Given the description of an element on the screen output the (x, y) to click on. 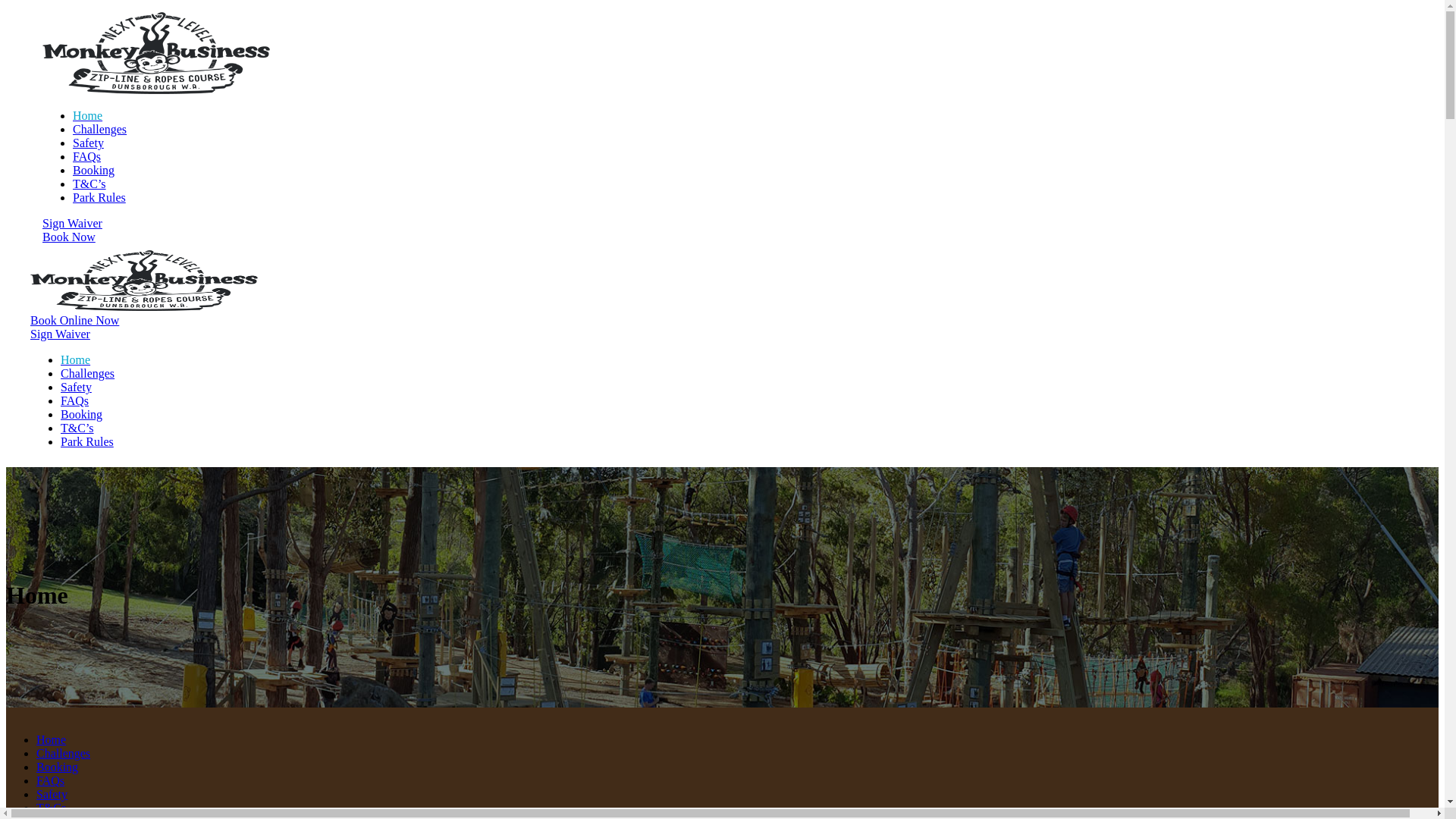
FAQs Element type: text (86, 156)
Challenges Element type: text (99, 128)
Book Online Now Element type: text (74, 319)
Safety Element type: text (75, 386)
Book Now Element type: text (68, 236)
Sign Waiver Element type: text (72, 222)
Home Element type: text (87, 115)
Challenges Element type: text (87, 373)
Home Element type: text (75, 359)
FAQs Element type: text (74, 400)
Safety Element type: text (51, 793)
Sign Waiver Element type: text (60, 333)
Booking Element type: text (93, 169)
Booking Element type: text (81, 413)
Safety Element type: text (87, 142)
Home Element type: text (50, 739)
T&Cs Element type: text (50, 807)
Park Rules Element type: text (86, 441)
FAQs Element type: text (50, 780)
Park Rules Element type: text (98, 197)
Challenges Element type: text (63, 752)
Booking Element type: text (57, 766)
